Given the description of an element on the screen output the (x, y) to click on. 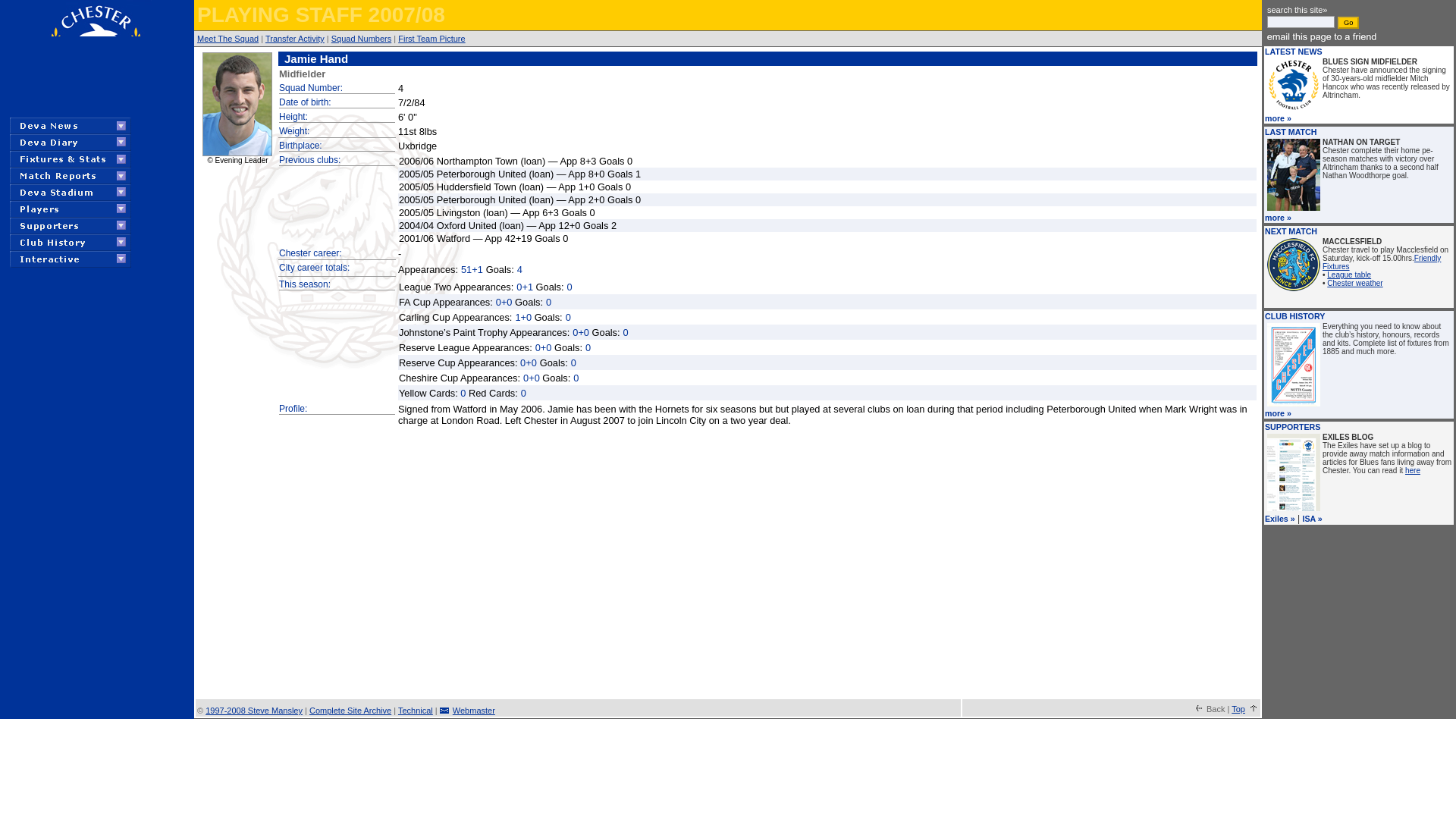
Go (1348, 22)
Go (1348, 22)
